Given the description of an element on the screen output the (x, y) to click on. 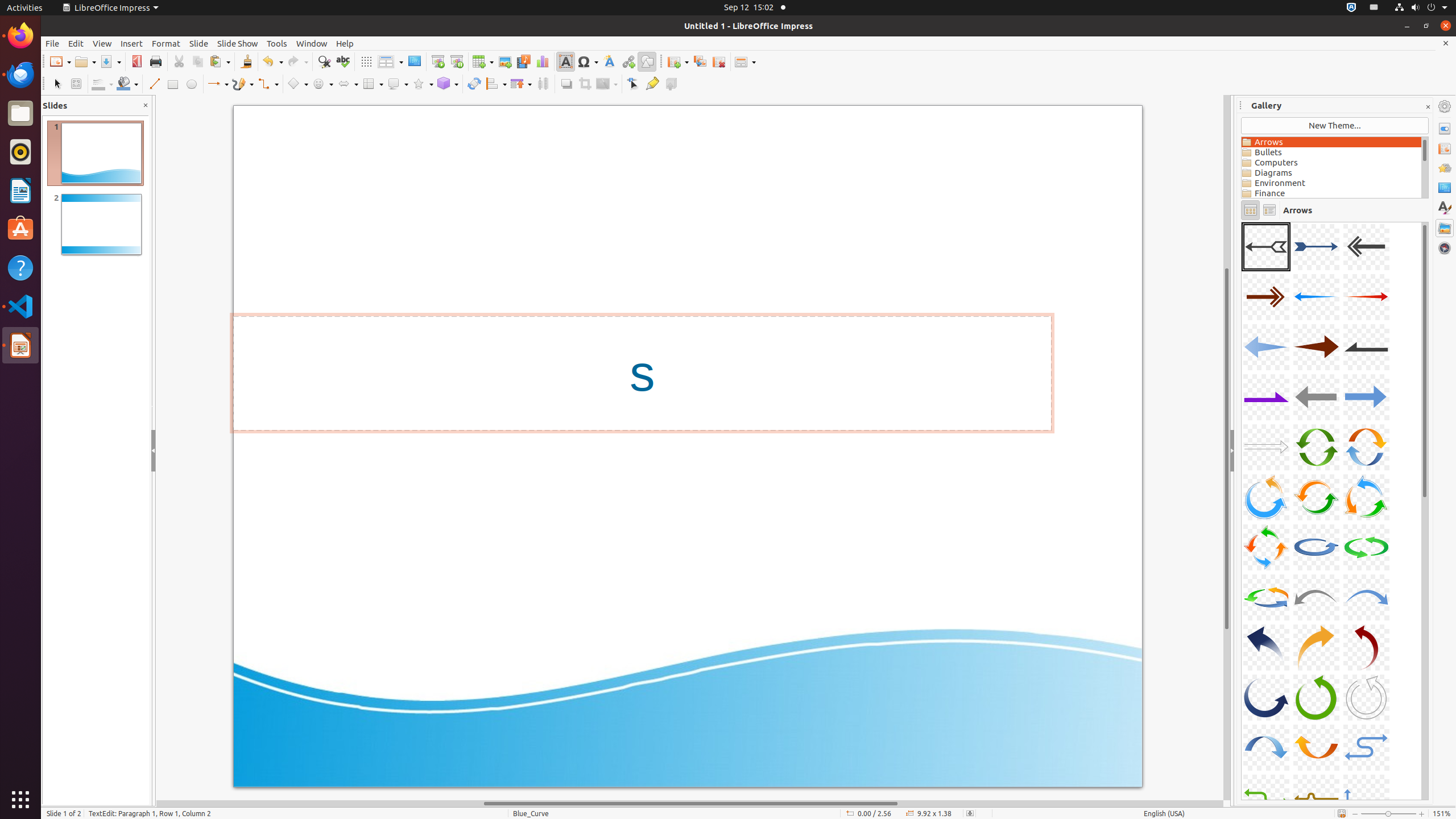
Show Applications Element type: toggle-button (20, 799)
Fill Color Element type: push-button (126, 83)
Ubuntu Software Element type: push-button (20, 229)
Lines and Arrows Element type: push-button (217, 83)
Edit Element type: menu (75, 43)
